Given the description of an element on the screen output the (x, y) to click on. 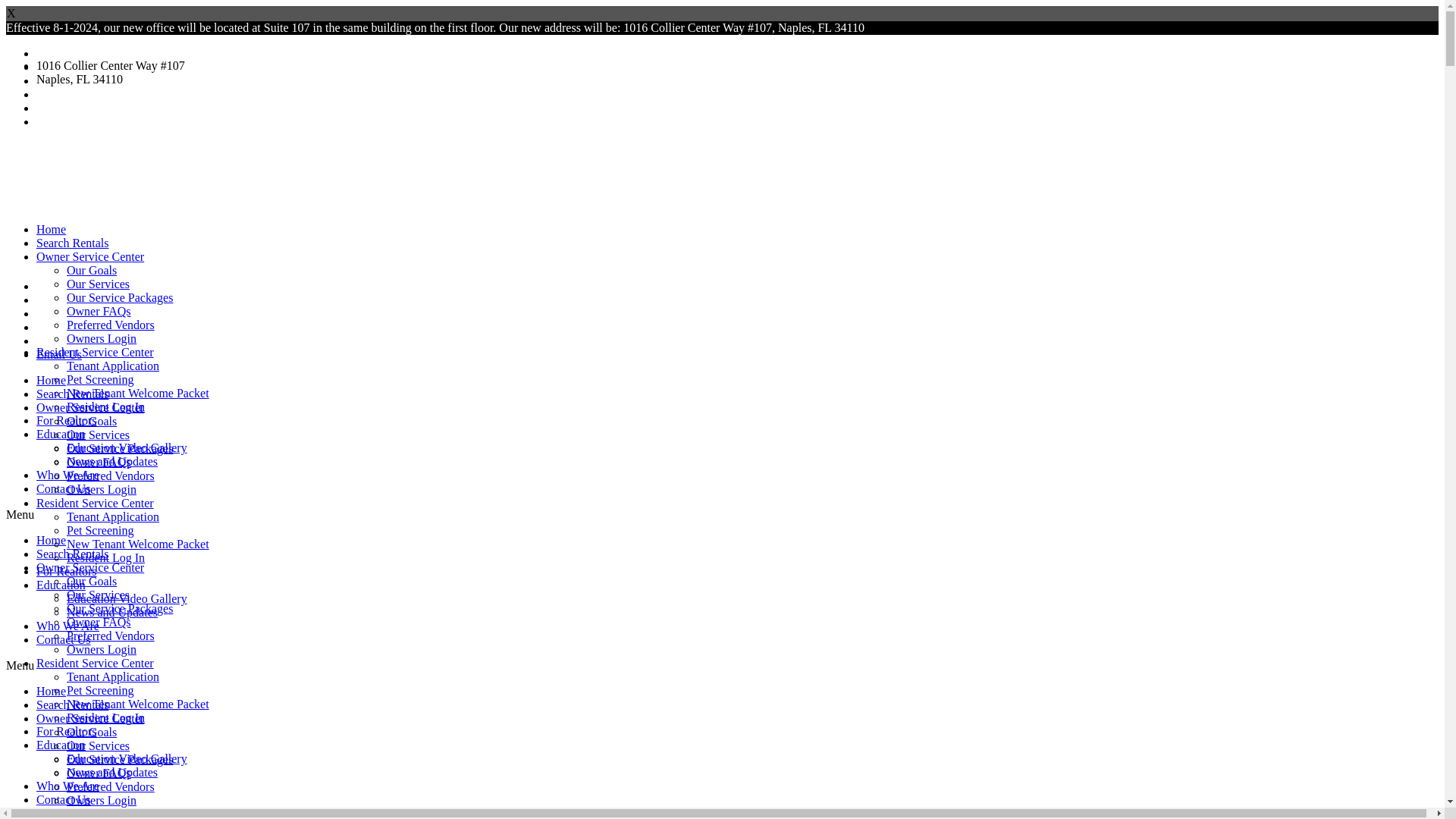
Education (60, 584)
Home (50, 690)
Education Video Gallery (126, 598)
News and Updates (111, 612)
Contact Us (63, 639)
Owner Service Center (90, 407)
For Realtors (66, 571)
Search Rentals (72, 704)
Our Goals (91, 420)
Email Us (58, 354)
